Given the description of an element on the screen output the (x, y) to click on. 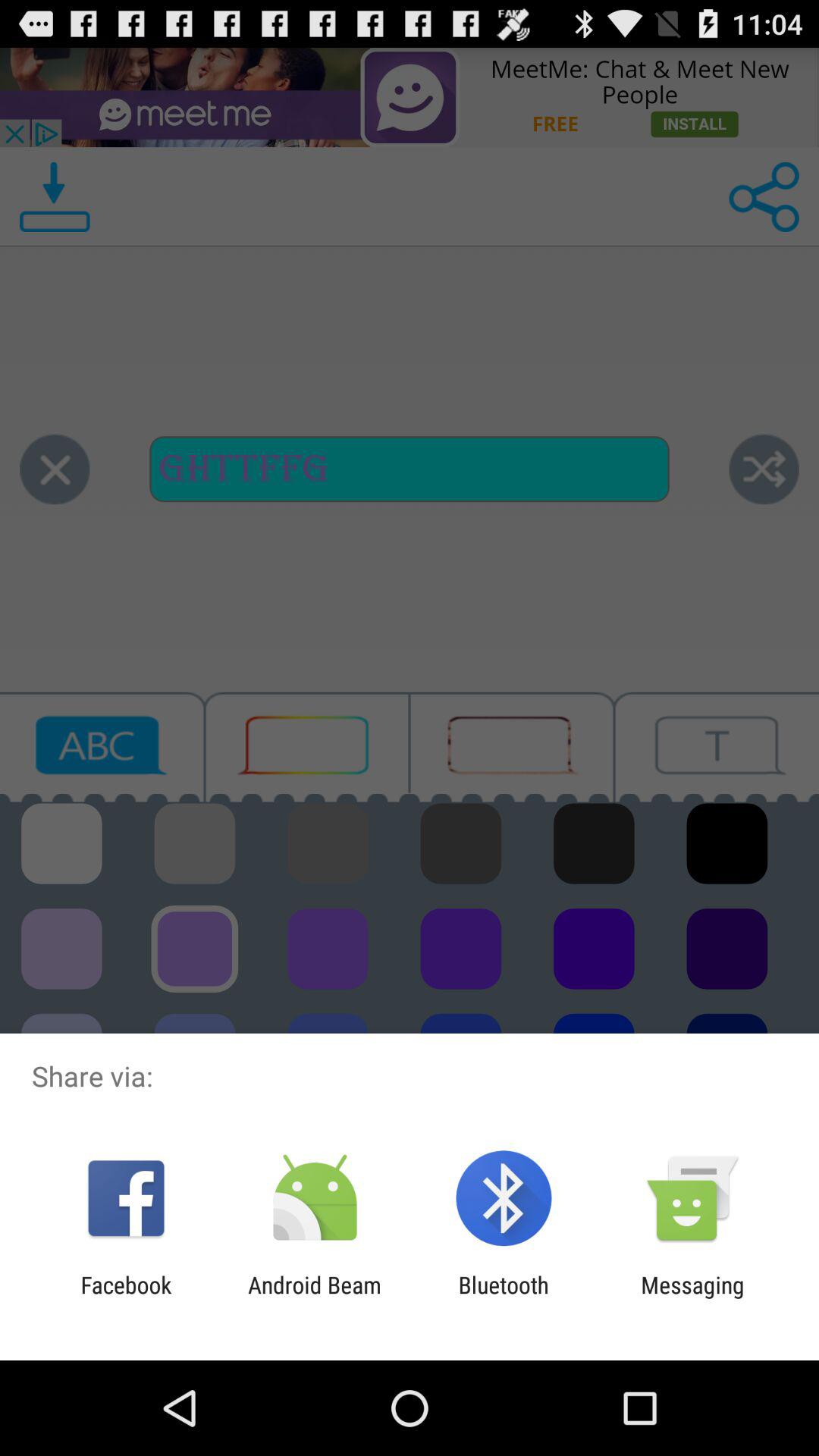
launch messaging app (692, 1298)
